Given the description of an element on the screen output the (x, y) to click on. 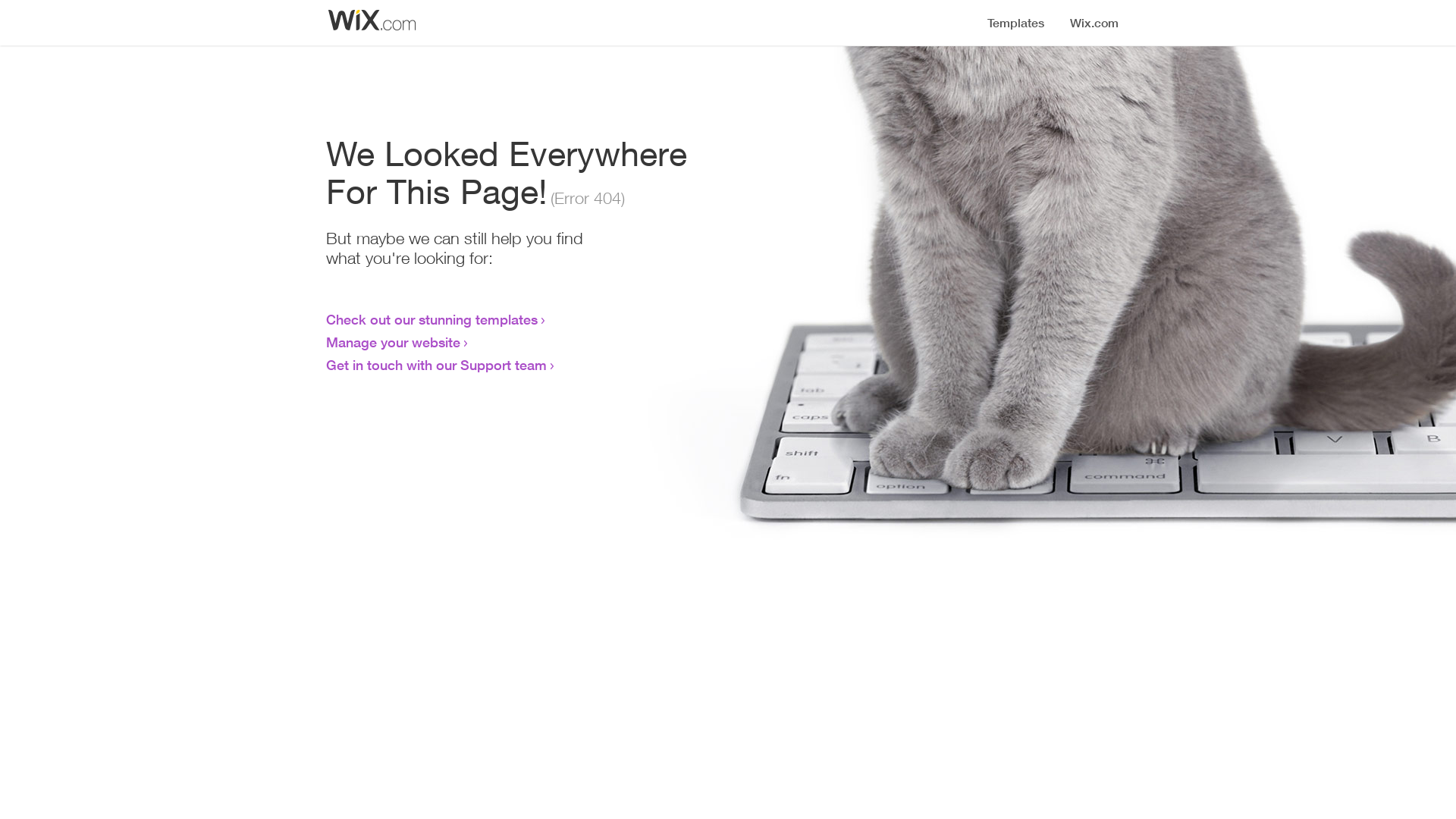
Get in touch with our Support team Element type: text (436, 364)
Manage your website Element type: text (393, 341)
Check out our stunning templates Element type: text (431, 318)
